Given the description of an element on the screen output the (x, y) to click on. 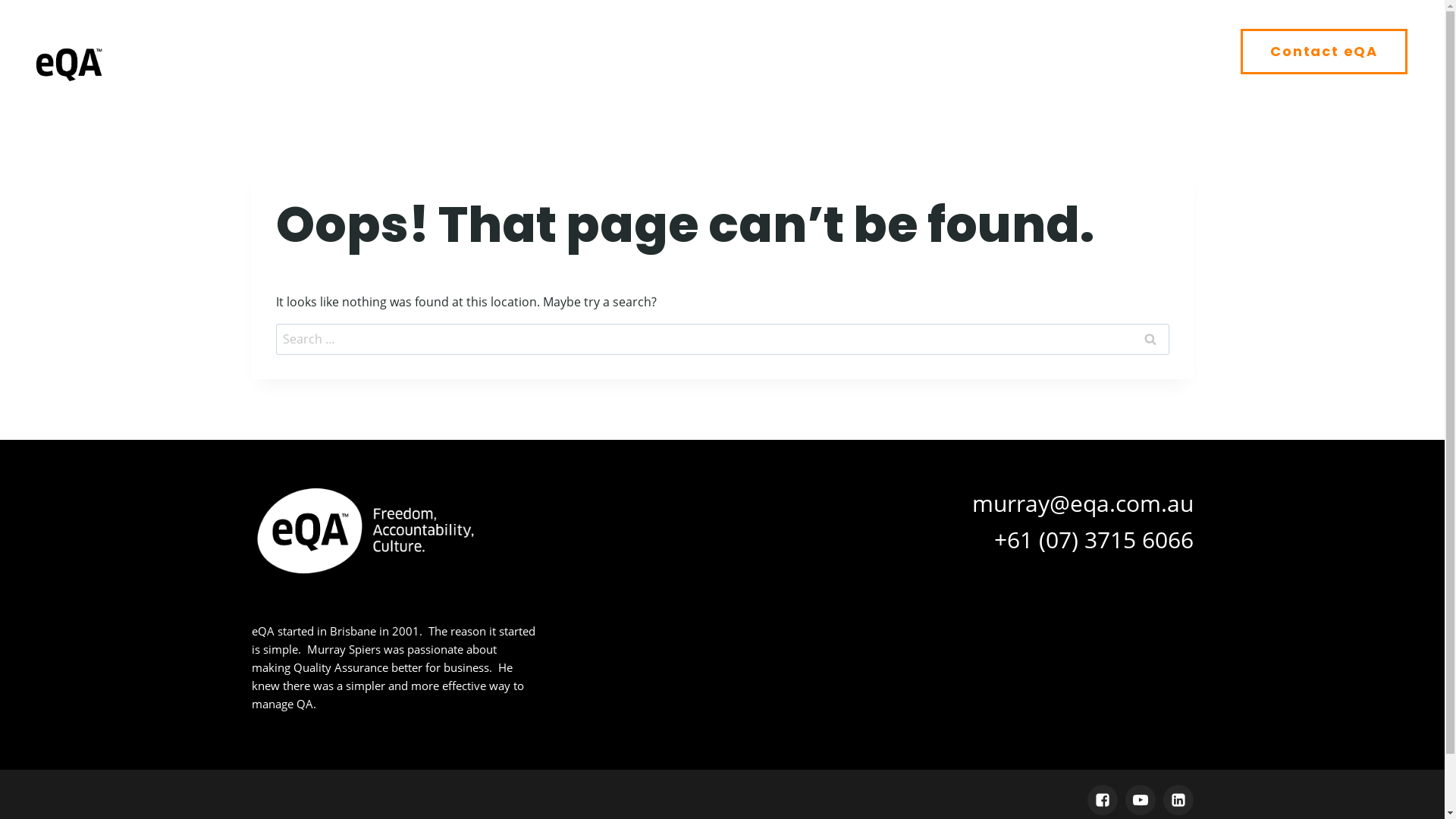
+61 (07) 3715 6066 Element type: text (1092, 538)
Client Work Element type: text (1014, 51)
Search Element type: text (1150, 338)
Contact eQA Element type: text (1323, 51)
Resources Element type: text (1164, 51)
QA Checklist Element type: text (864, 51)
About Element type: text (735, 51)
murray@eqa.com.au Element type: text (1082, 501)
